Given the description of an element on the screen output the (x, y) to click on. 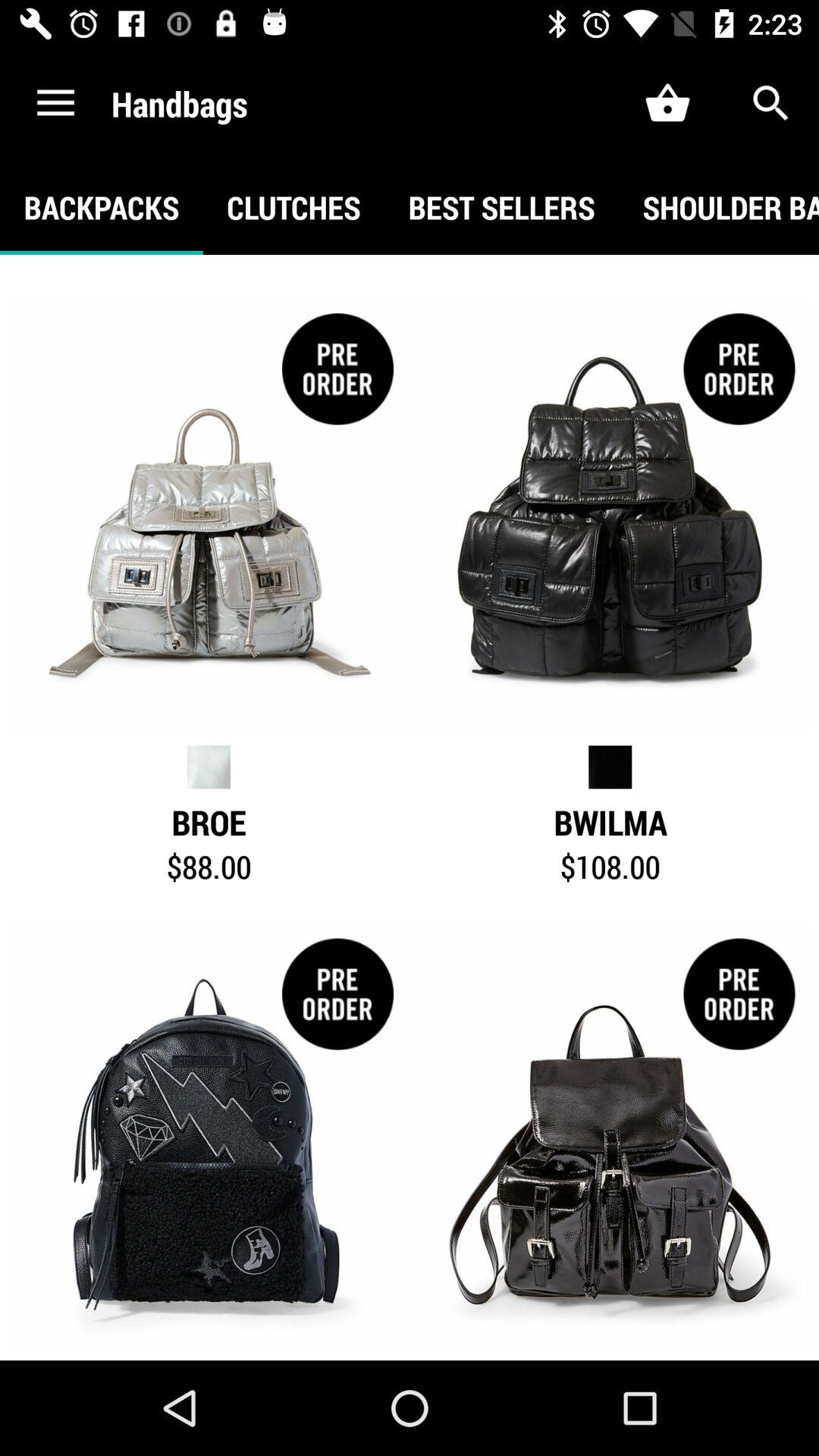
open the icon above shoulder bags icon (771, 103)
